Given the description of an element on the screen output the (x, y) to click on. 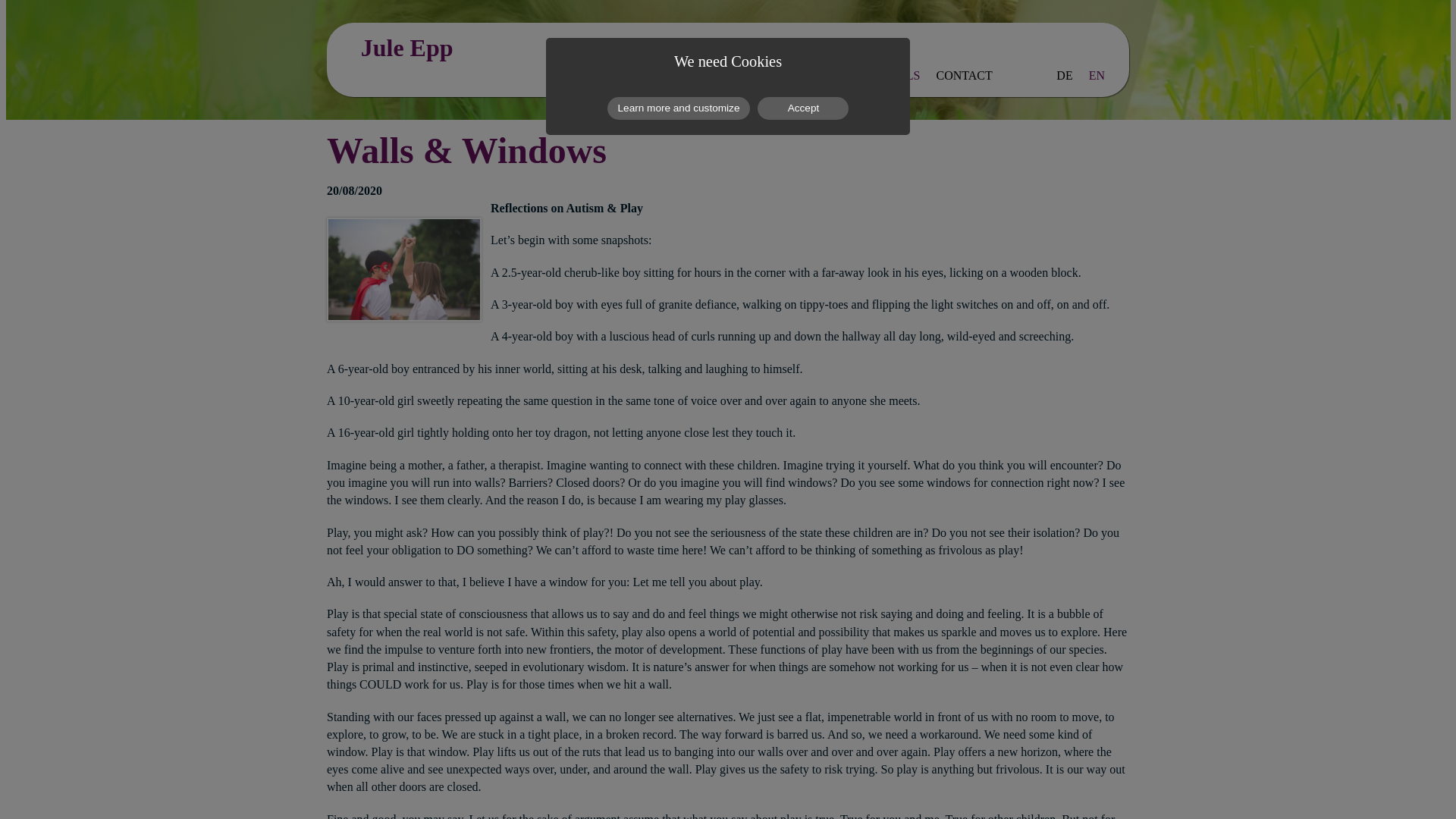
DE (1064, 75)
Learn more and customize (679, 108)
EN (1096, 75)
Accept (802, 108)
HOME (601, 75)
SERVICES (804, 75)
ABOUT ME (666, 75)
AUTISM (737, 75)
EDITORIALS (885, 75)
CONTACT (964, 75)
